Given the description of an element on the screen output the (x, y) to click on. 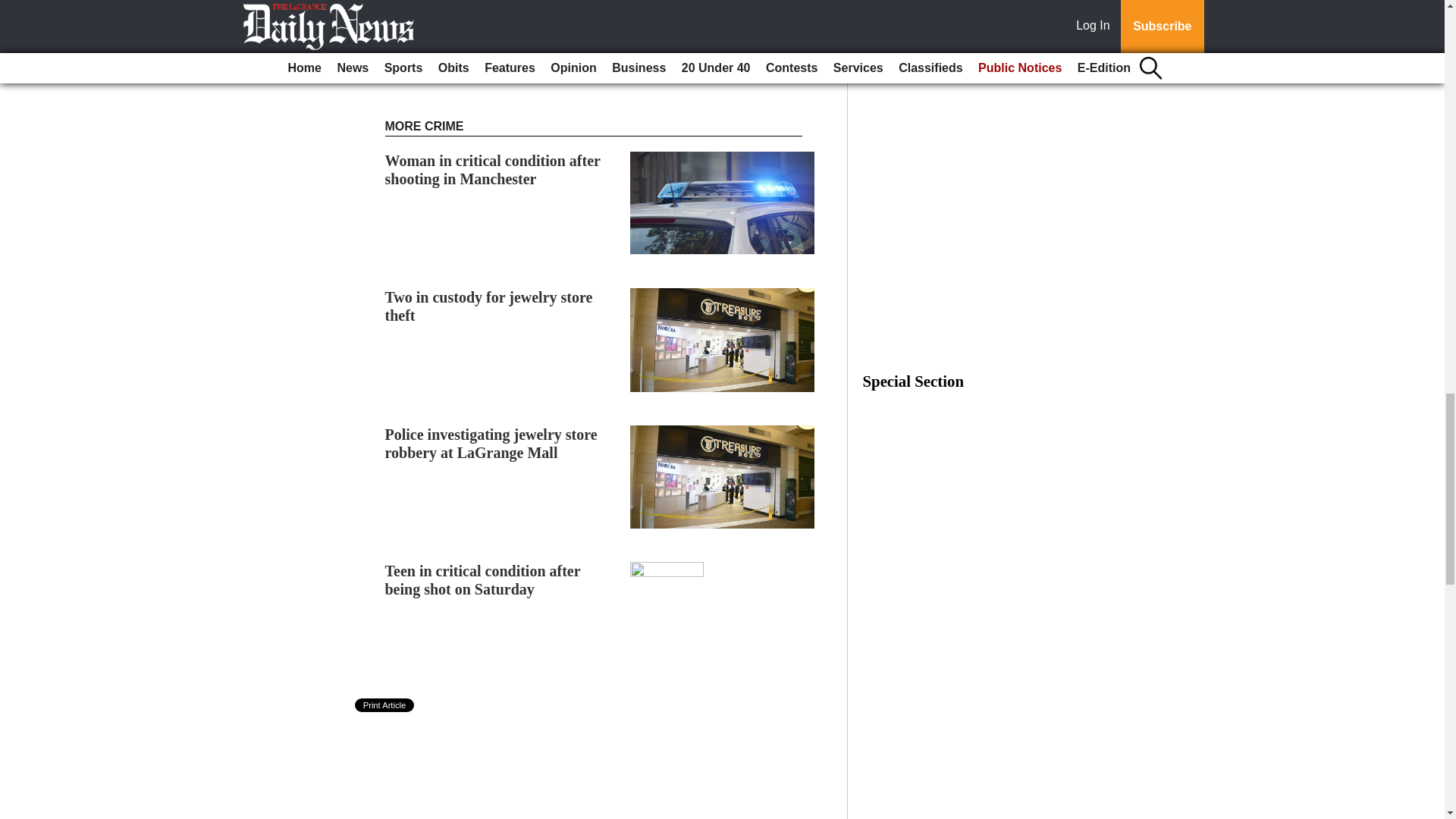
Teen in critical condition after being shot on Saturday (482, 579)
Teen in critical condition after being shot on Saturday (482, 579)
Woman in critical condition after shooting in Manchester (492, 169)
Two in custody for jewelry store theft (488, 306)
Woman in critical condition after shooting in Manchester (492, 169)
Police investigating jewelry store robbery at LaGrange Mall (490, 443)
Two in custody for jewelry store theft (488, 306)
Police investigating jewelry store robbery at LaGrange Mall (490, 443)
Print Article (384, 704)
